Given the description of an element on the screen output the (x, y) to click on. 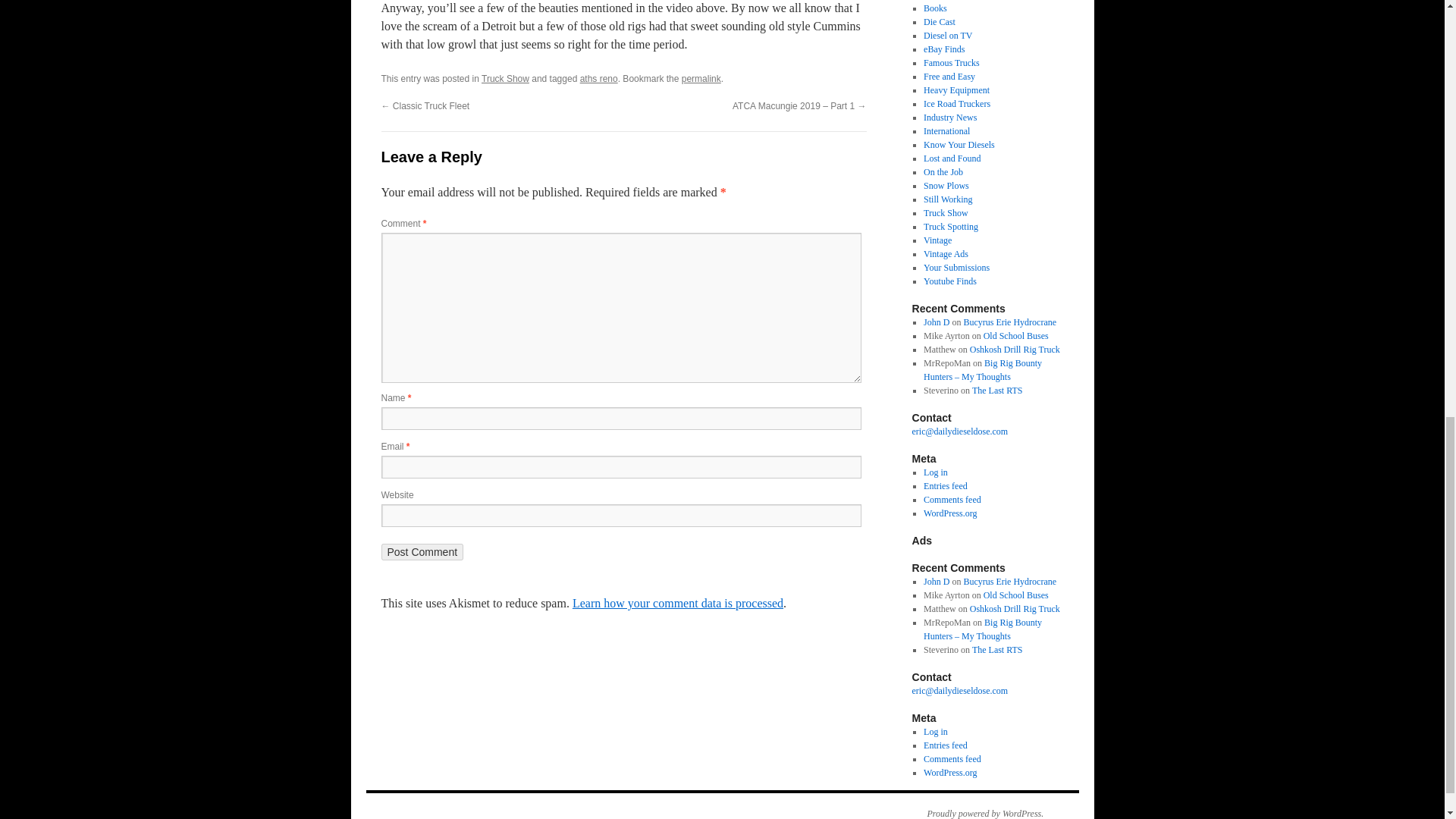
permalink (700, 78)
Permalink to Classic Logging Trucks (700, 78)
aths reno (598, 78)
Post Comment (421, 551)
Truck Show (505, 78)
Learn how your comment data is processed (677, 603)
Post Comment (421, 551)
